Given the description of an element on the screen output the (x, y) to click on. 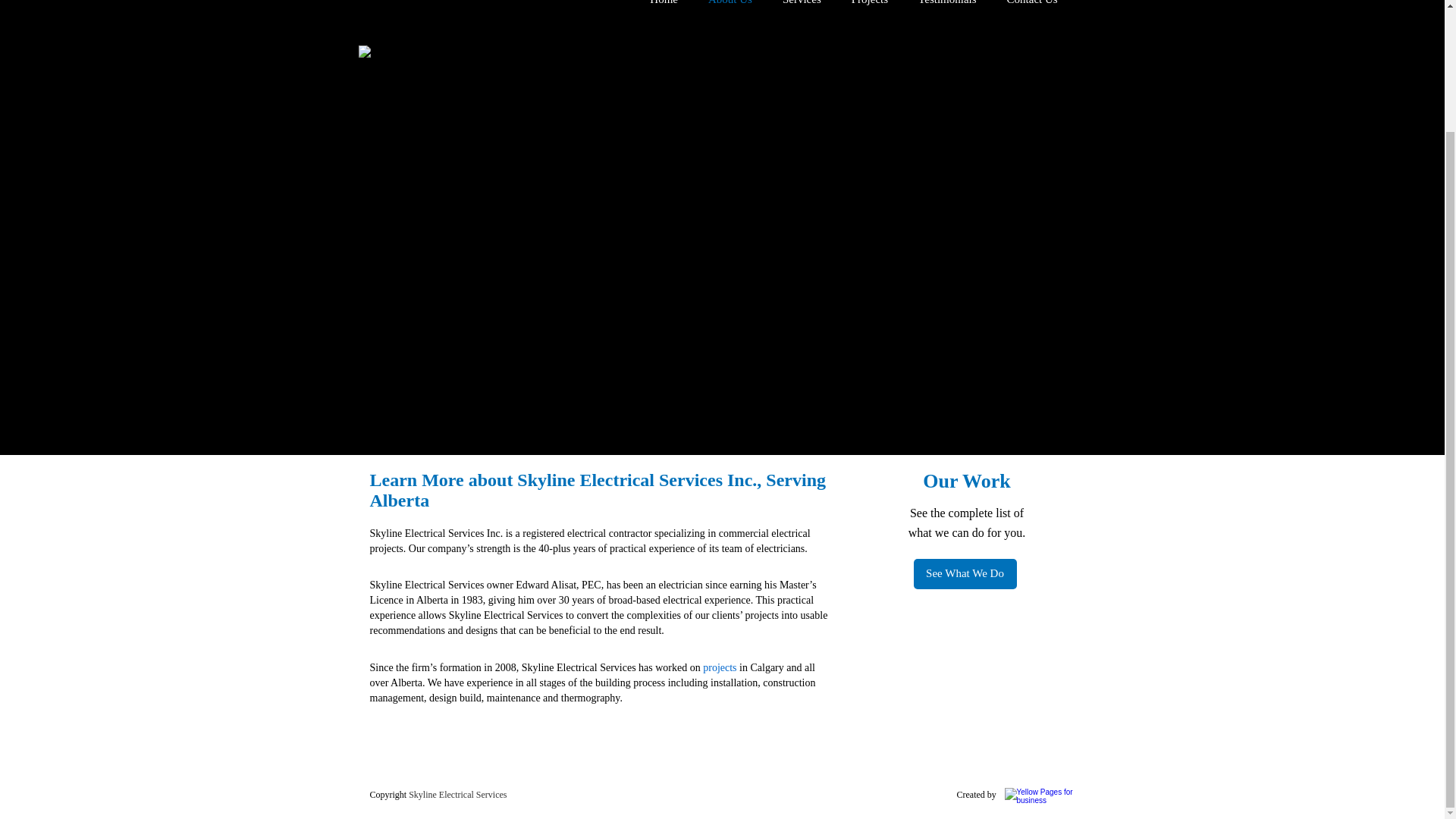
Projects (868, 7)
Home (663, 7)
projects (719, 668)
Services (801, 7)
Testimonials (946, 7)
Contact Us (1032, 7)
About Us (730, 7)
Skyline Electrical Services (457, 795)
See What We Do (964, 573)
